Given the description of an element on the screen output the (x, y) to click on. 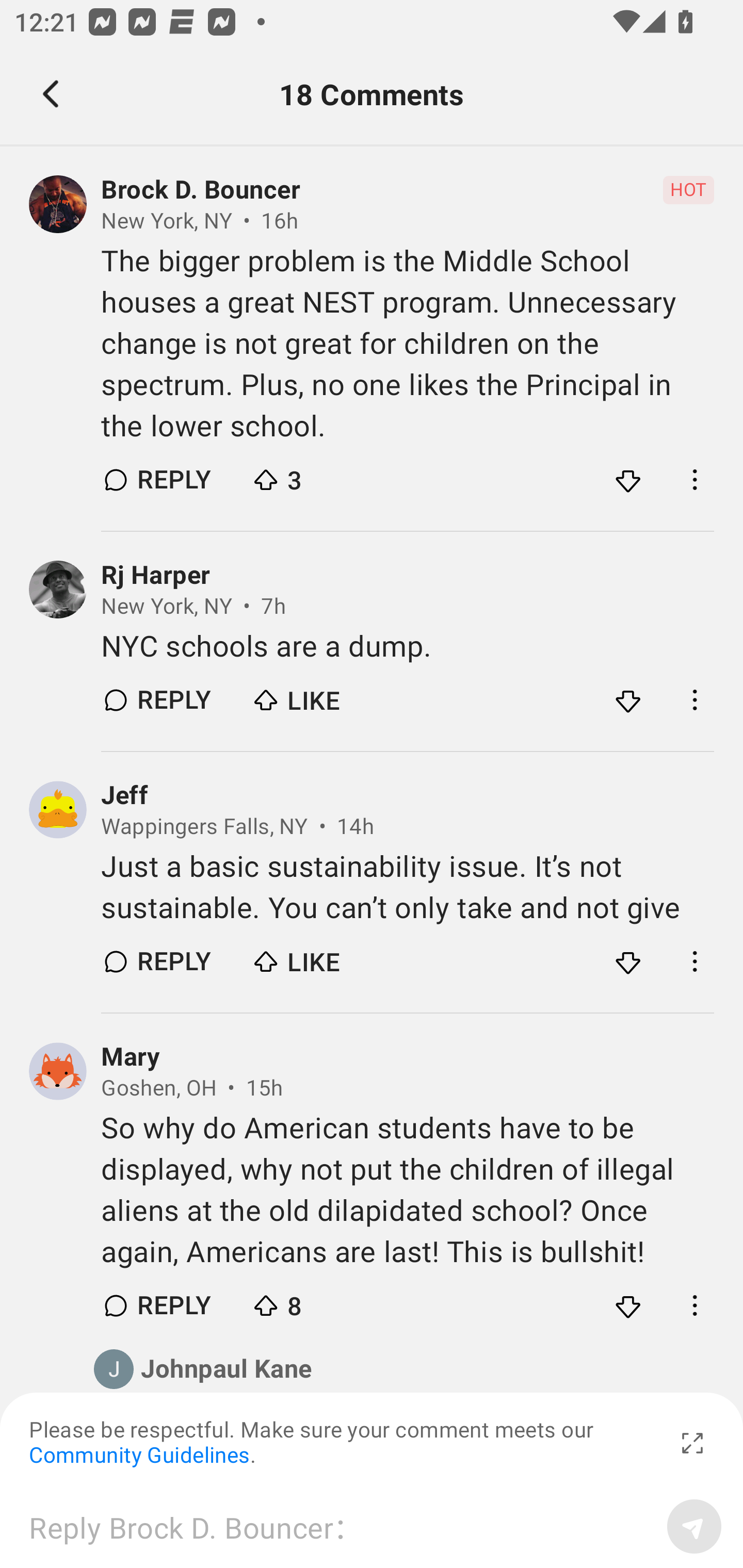
Reply Brock D. Bouncer： (340, 1526)
